Given the description of an element on the screen output the (x, y) to click on. 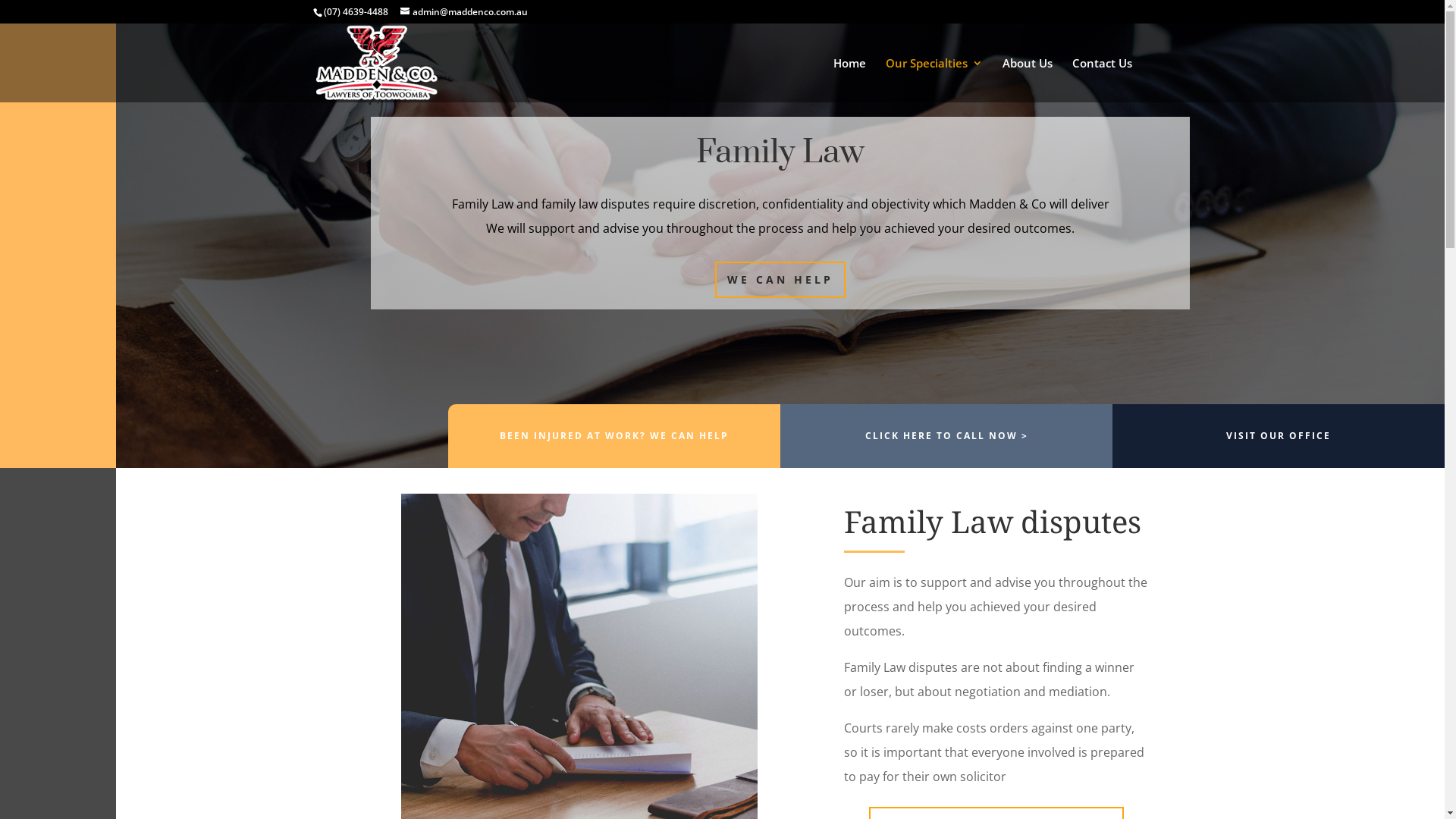
(07) 4639-4488 Element type: text (355, 11)
Contact Us Element type: text (1102, 79)
About Us Element type: text (1027, 79)
CLICK HERE TO CALL NOW > Element type: text (945, 435)
Our Specialties Element type: text (933, 79)
Home Element type: text (848, 79)
WE CAN HELP Element type: text (780, 279)
admin@maddenco.com.au Element type: text (463, 11)
VISIT OUR OFFICE Element type: text (1278, 435)
